Given the description of an element on the screen output the (x, y) to click on. 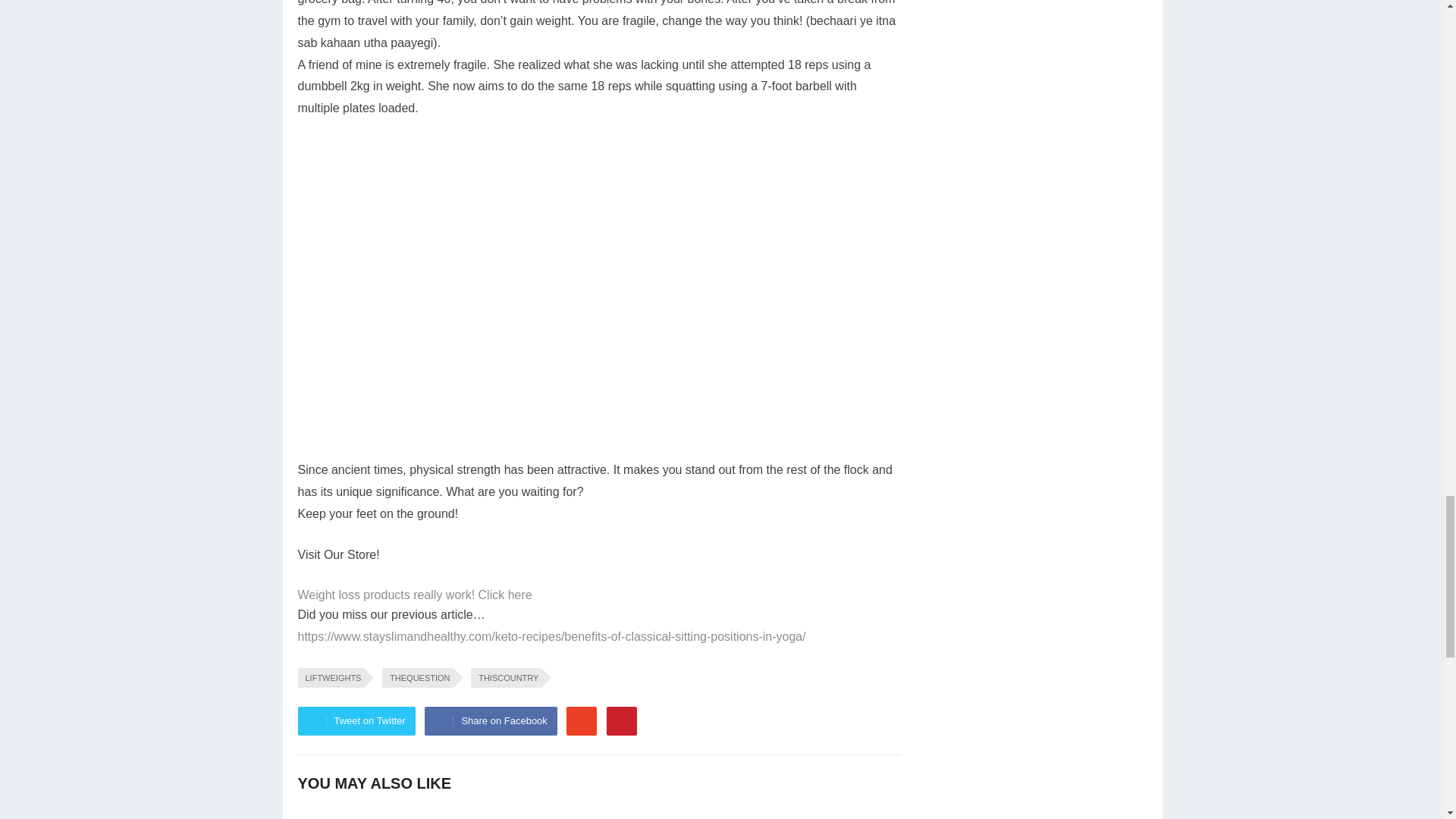
Tweet on Twitter (355, 720)
THISCOUNTRY (505, 677)
Weight loss products really work! Click here (414, 594)
LIFTWEIGHTS (330, 677)
Share on Facebook (490, 720)
THEQUESTION (416, 677)
